Given the description of an element on the screen output the (x, y) to click on. 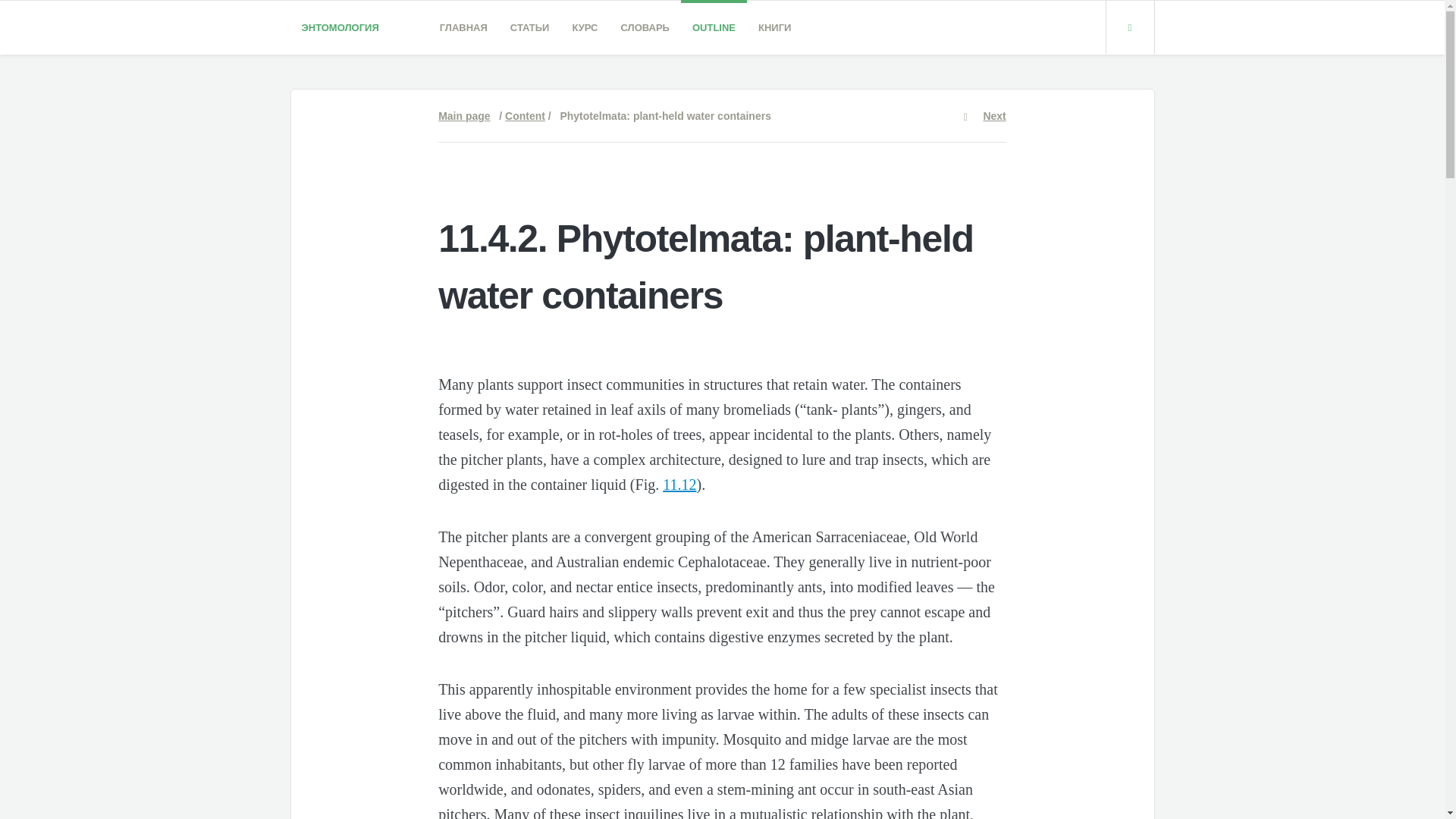
11.12 (678, 484)
Main page (463, 114)
Next (994, 114)
OUTLINE (713, 27)
Content (524, 114)
